Given the description of an element on the screen output the (x, y) to click on. 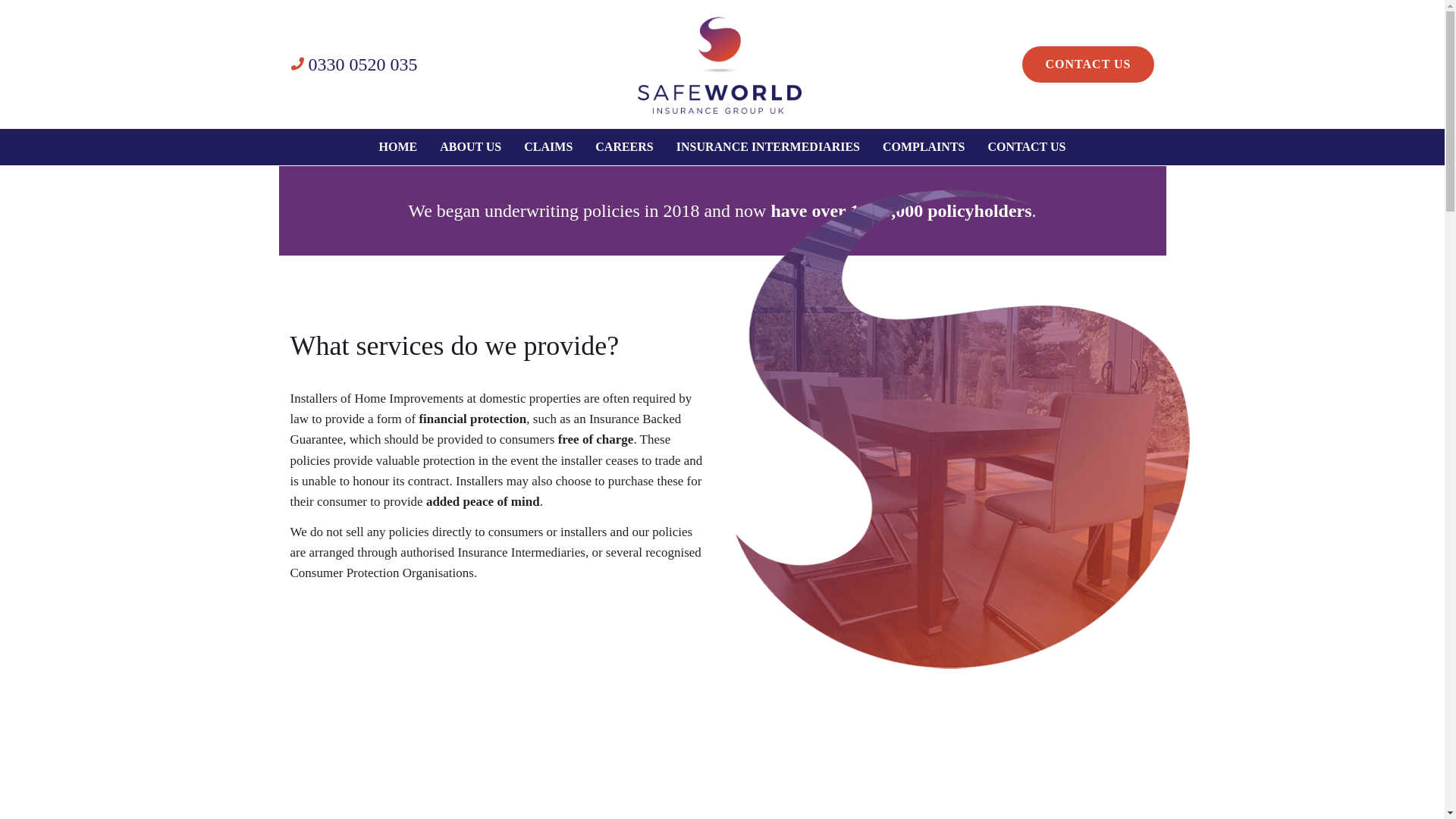
CLAIMS (547, 146)
INSURANCE INTERMEDIARIES (767, 146)
CONTACT US (1088, 63)
ABOUT US (470, 146)
COMPLAINTS (922, 146)
CONTACT US (1026, 146)
0330 0520 035 (352, 64)
HOME (398, 146)
CAREERS (623, 146)
